Given the description of an element on the screen output the (x, y) to click on. 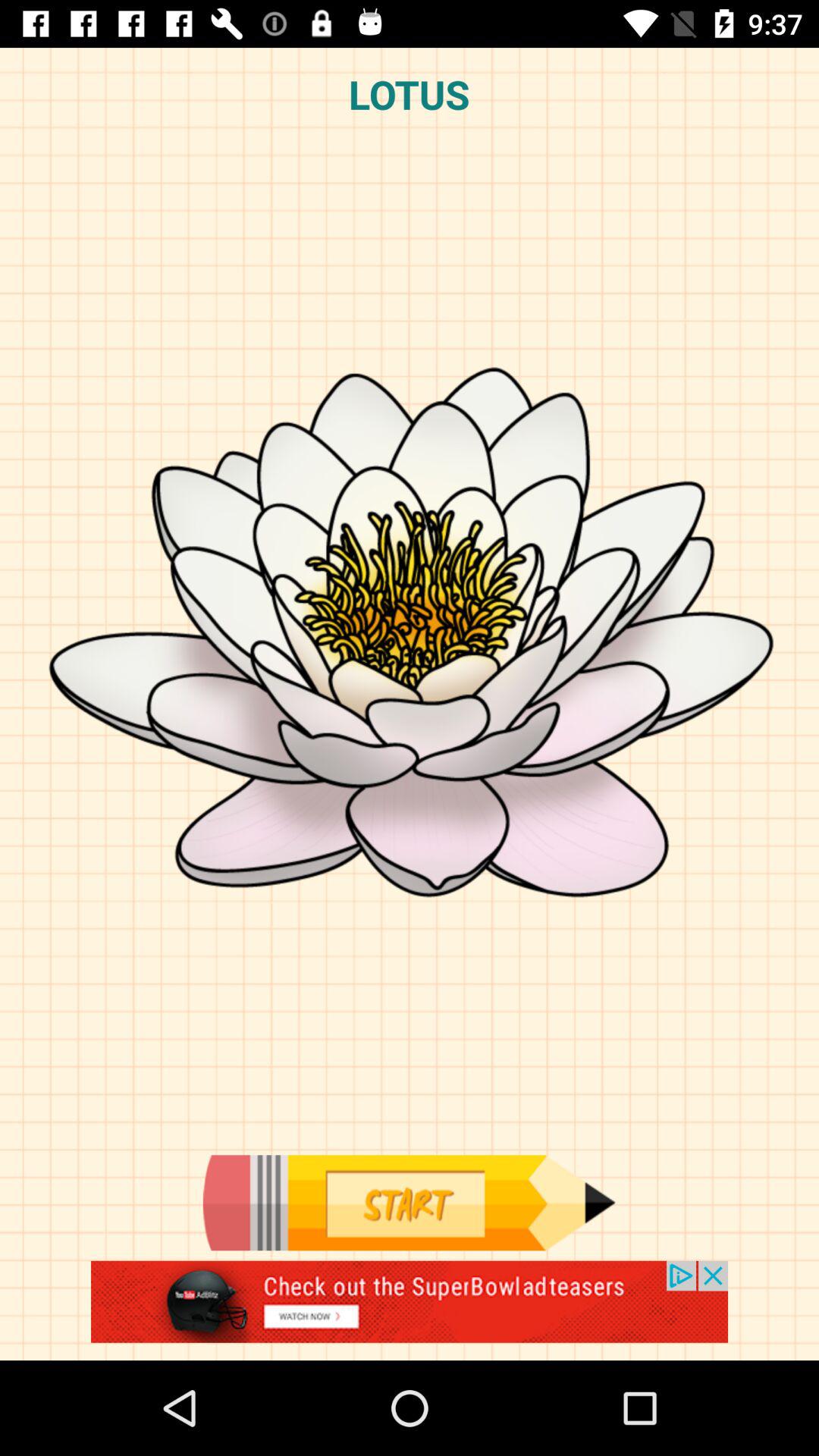
click to start (409, 1202)
